Given the description of an element on the screen output the (x, y) to click on. 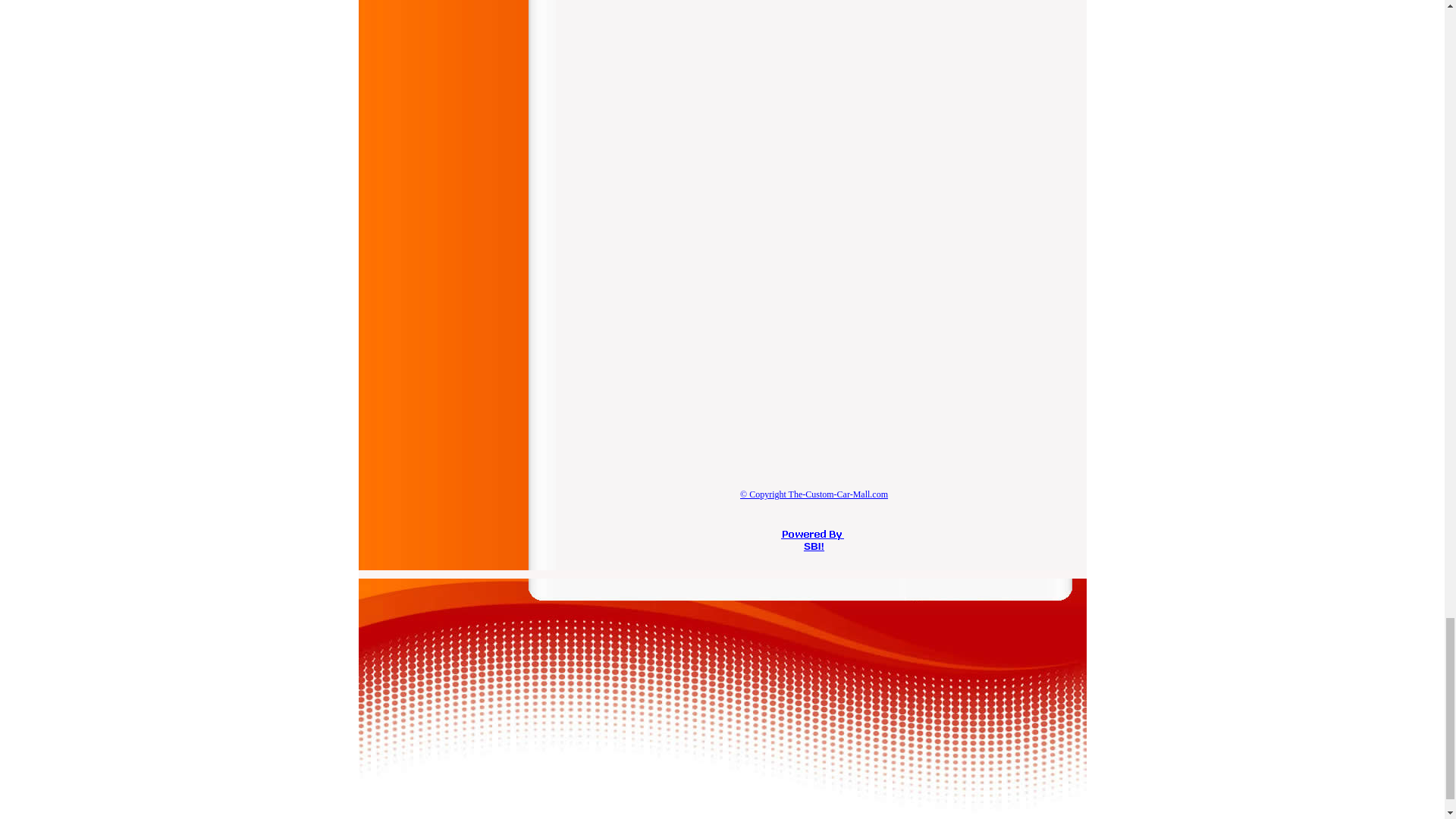
Advertisement (689, 342)
